Given the description of an element on the screen output the (x, y) to click on. 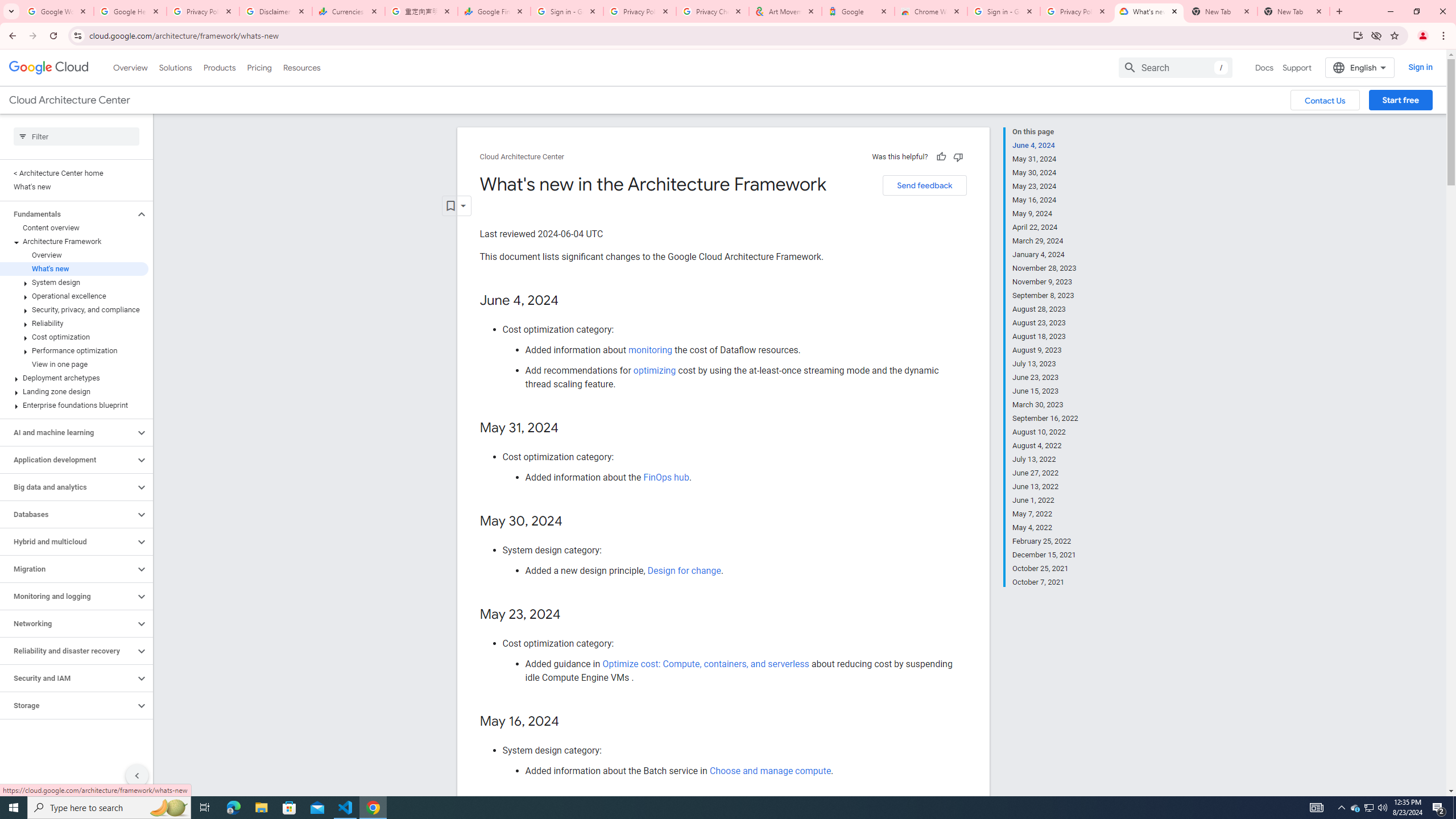
optimizing (654, 370)
Architecture Framework (74, 241)
Pricing (259, 67)
New Tab (1293, 11)
June 1, 2022 (1044, 499)
Hide side navigation (136, 775)
May 16, 2024 (1044, 200)
monitoring (649, 349)
Docs, selected (1264, 67)
Privacy Checkup (712, 11)
Cloud Architecture Center (521, 156)
Networking (67, 623)
